Given the description of an element on the screen output the (x, y) to click on. 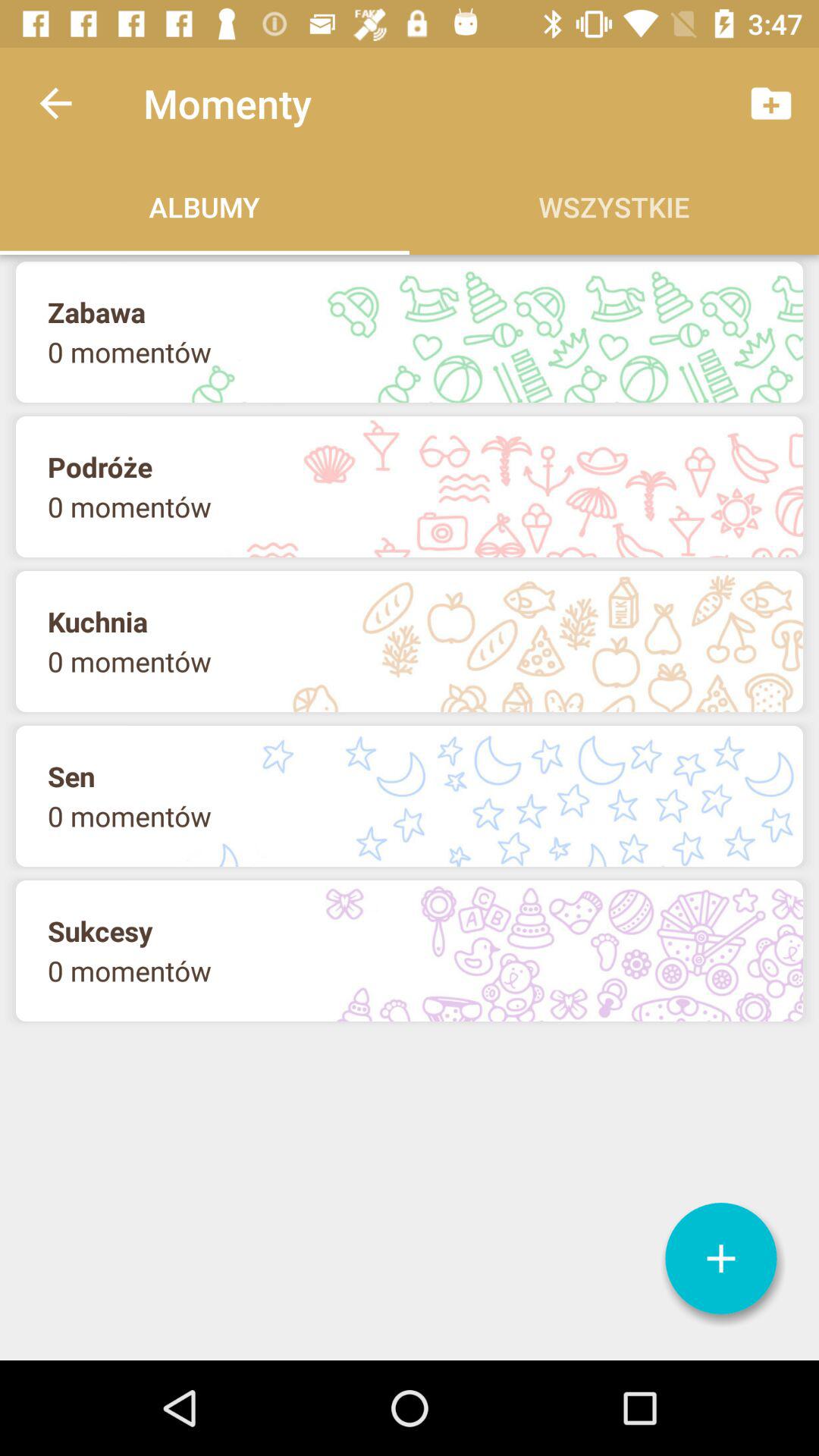
turn off the app next to the momenty item (55, 103)
